Given the description of an element on the screen output the (x, y) to click on. 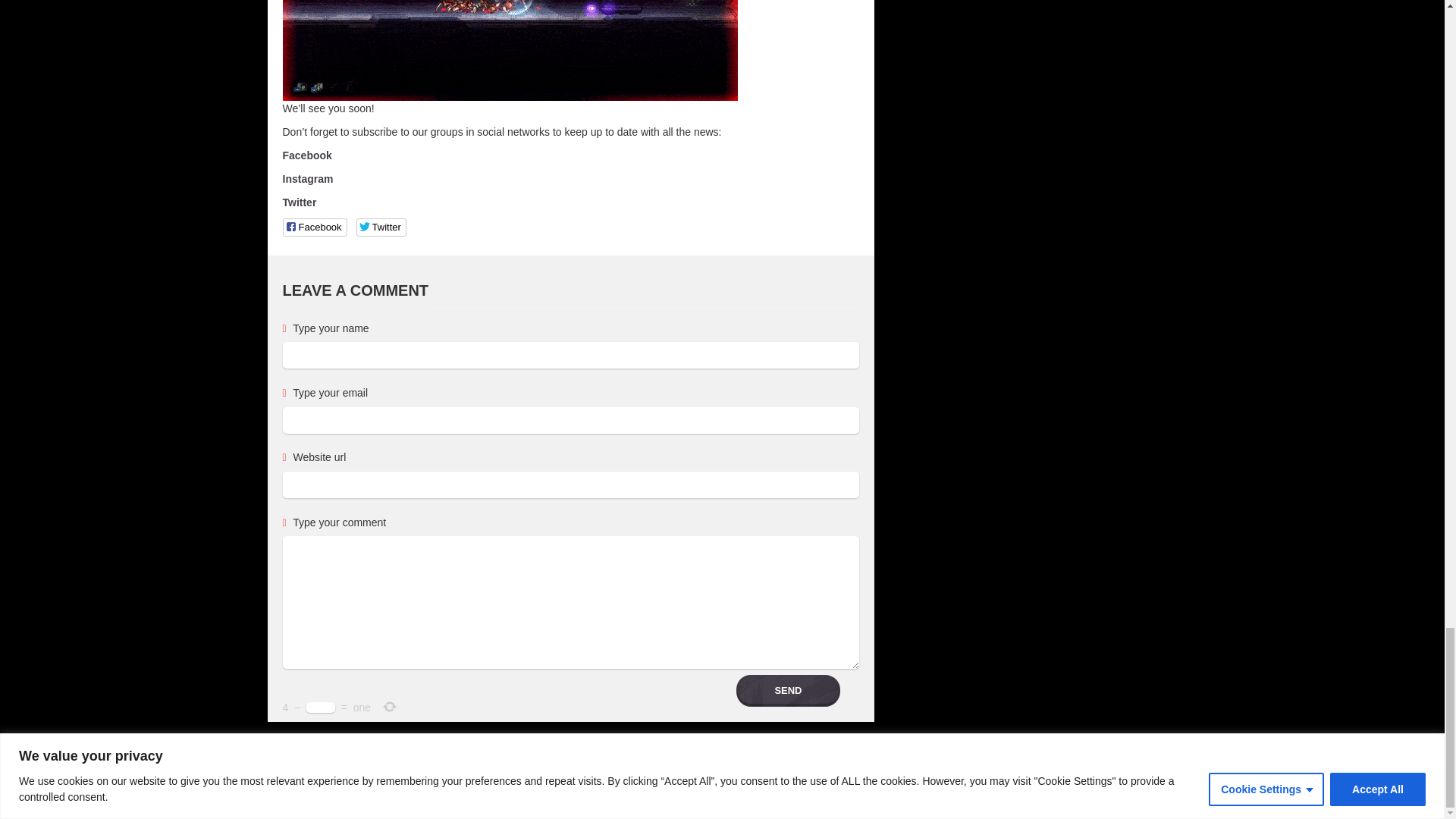
Share link on Facebook (314, 227)
Instagram (307, 178)
Send (788, 690)
Facebook (306, 155)
Twitter (298, 202)
Send (788, 690)
Share link on Twitter (381, 227)
